Given the description of an element on the screen output the (x, y) to click on. 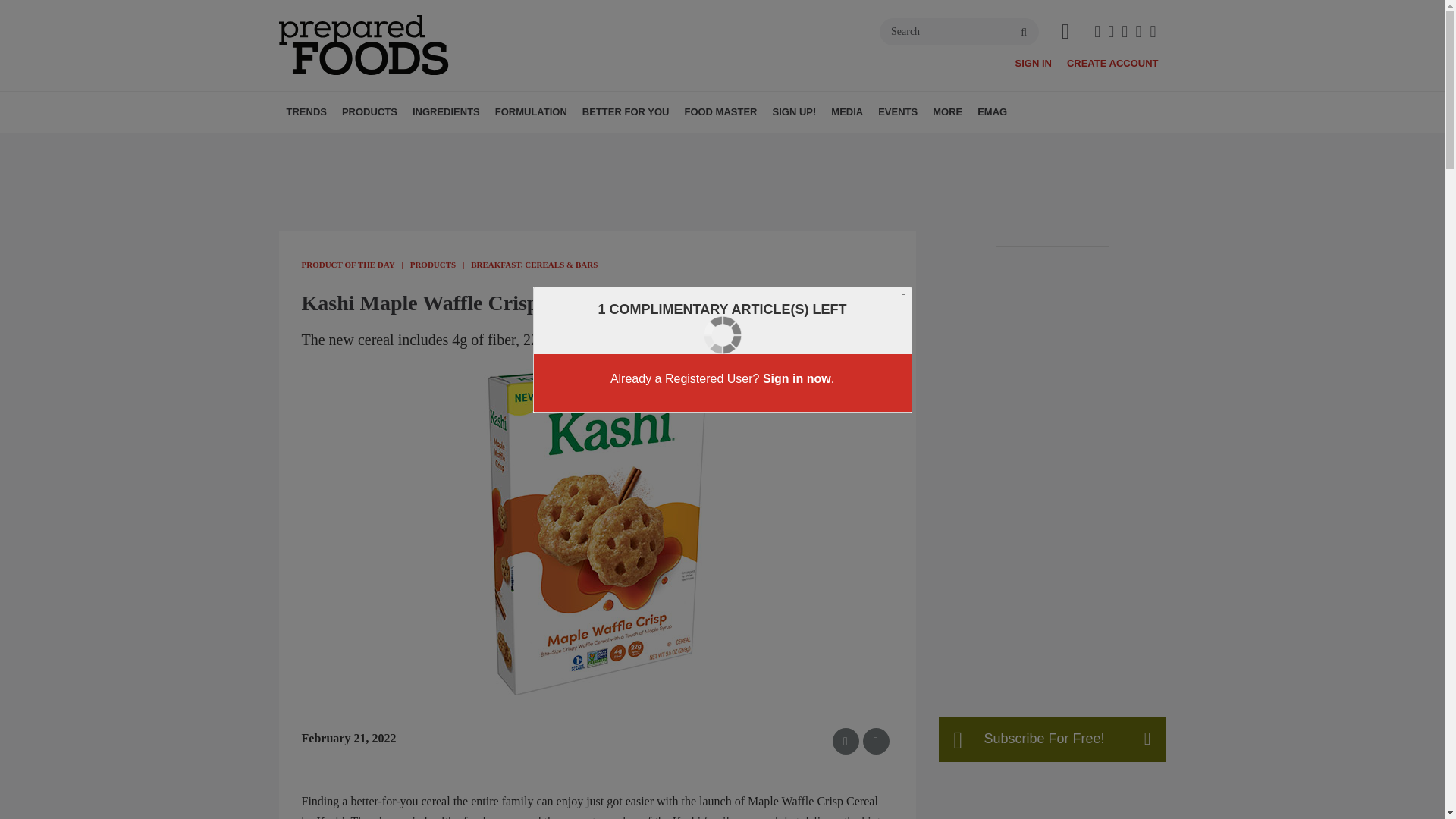
2023 TRENDS (380, 145)
INGREDIENTS (445, 111)
DIETARY FIBER (513, 145)
Search (959, 31)
CANNABIS (452, 145)
search (1023, 32)
SIGN IN (1032, 62)
Search (959, 31)
BAKERY (429, 145)
FLAVORS, SEASONINGS, SPICES (522, 145)
